Given the description of an element on the screen output the (x, y) to click on. 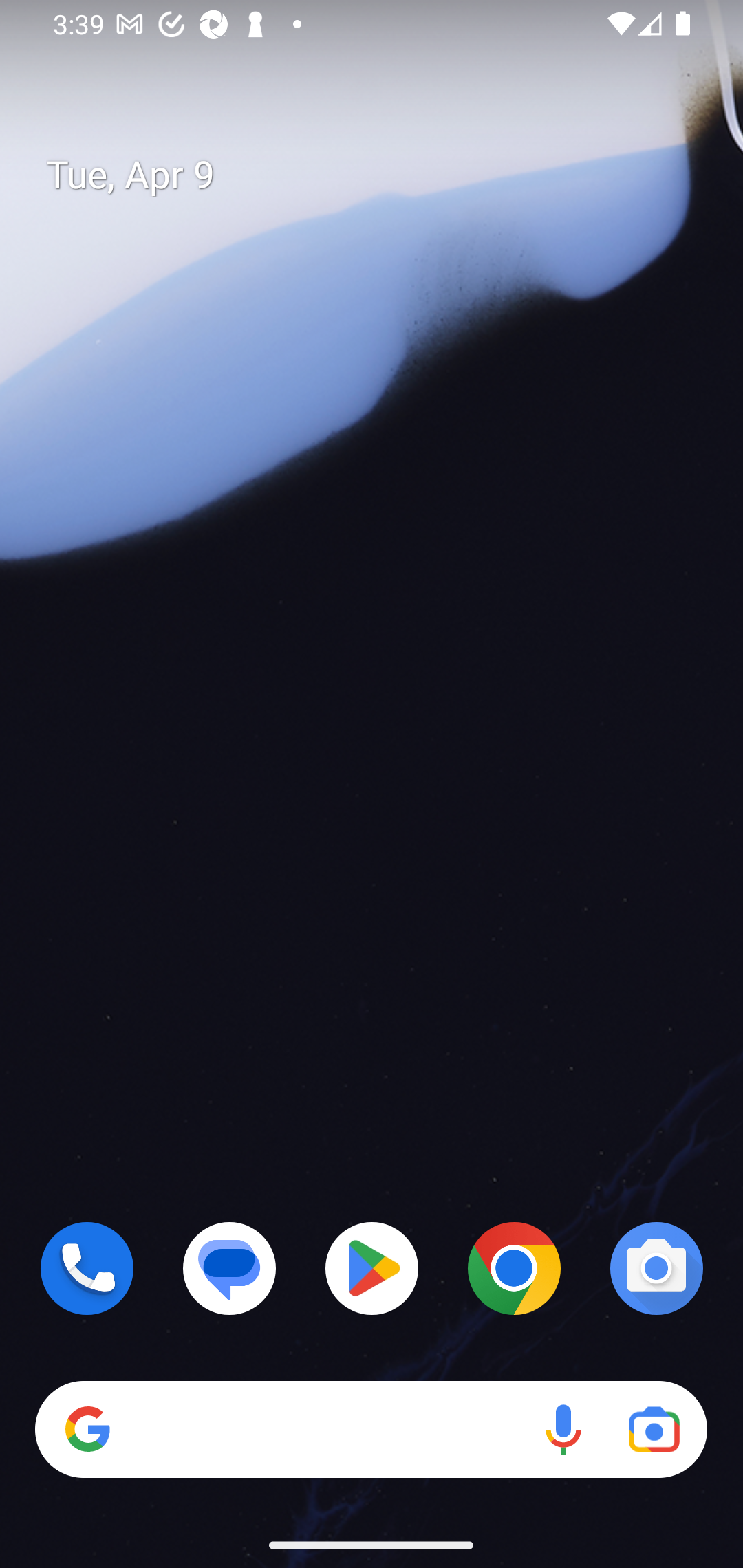
Tue, Apr 9 (386, 175)
Phone (86, 1268)
Messages (229, 1268)
Play Store (371, 1268)
Chrome (513, 1268)
Camera (656, 1268)
Search Voice search Google Lens (370, 1429)
Voice search (562, 1429)
Google Lens (653, 1429)
